Given the description of an element on the screen output the (x, y) to click on. 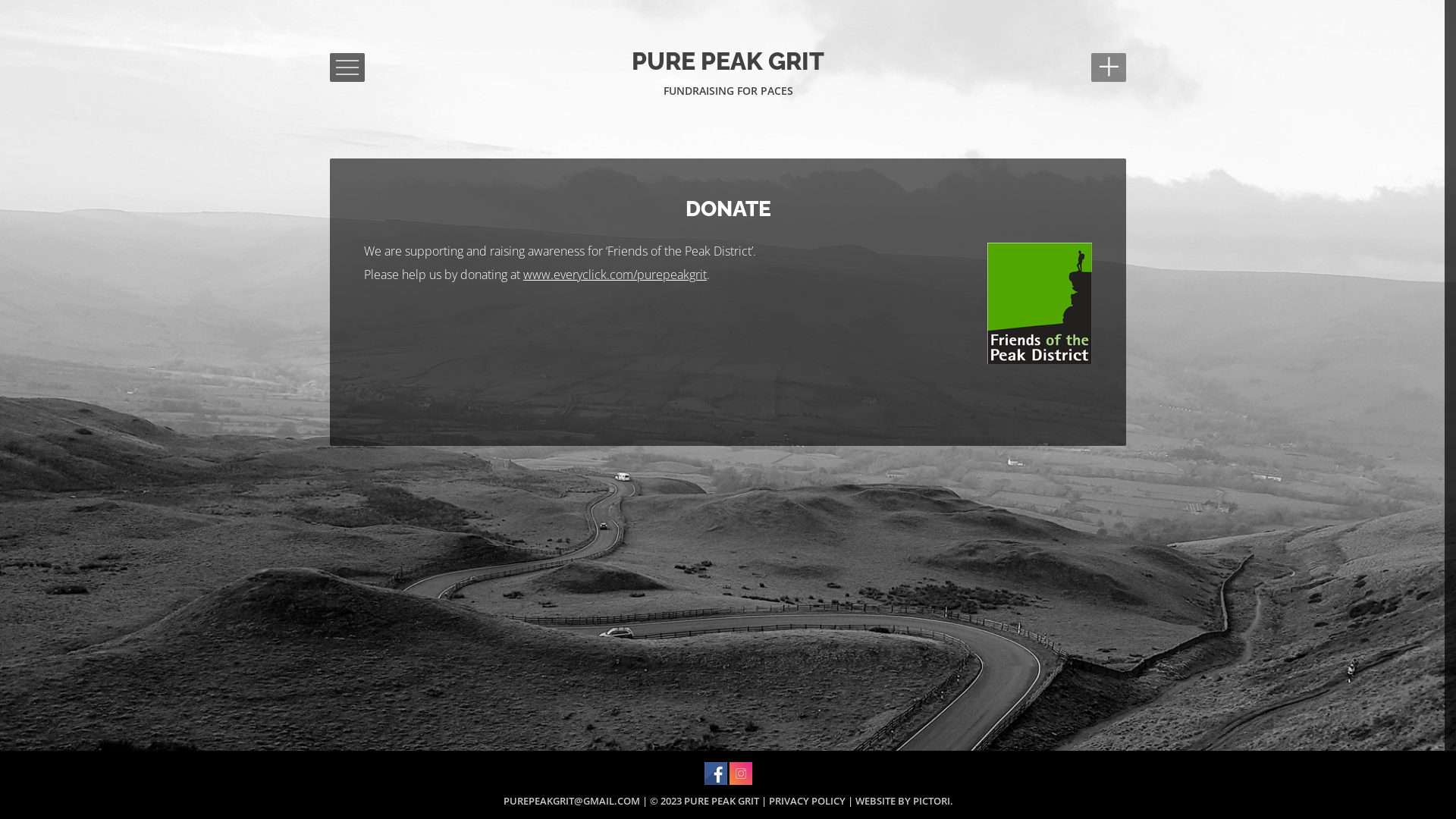
PRIVACY POLICY Element type: text (806, 800)
www.everyclick.com/purepeakgrit Element type: text (614, 274)
PURE PEAK GRIT Element type: text (727, 61)
PICTORI Element type: text (931, 800)
